Given the description of an element on the screen output the (x, y) to click on. 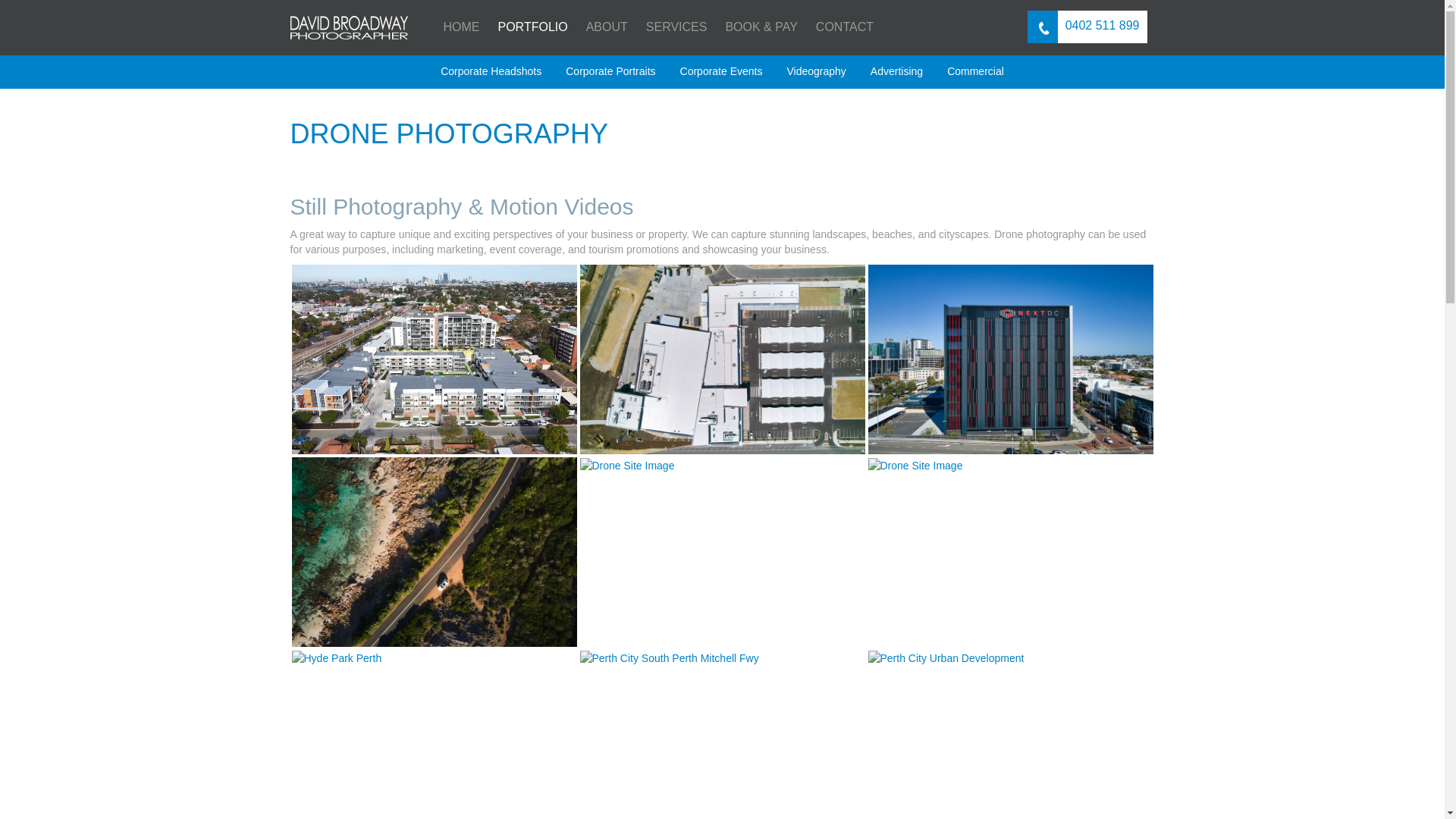
Next DC (Perth) P2 - Photo by David Broadway Element type: hover (1009, 359)
SERVICES Element type: text (676, 27)
BOOK & PAY Element type: text (760, 27)
Corporate Portraits Element type: text (610, 70)
Commercial Element type: text (975, 70)
Corporate Events Element type: text (721, 70)
CONTACT Element type: text (844, 27)
ABOUT Element type: text (607, 27)
Perth City Urban Development - Photo by David Broadway Element type: hover (945, 657)
PORTFOLIO Element type: text (532, 27)
Birdseye View - Photo by David Broadway Element type: hover (721, 359)
Corporate Headshots Element type: text (490, 70)
Drone Site Image - Photo by David Broadway Element type: hover (626, 465)
Property Drone Photography - Photo by David Broadway Element type: hover (433, 359)
Advertising Element type: text (896, 70)
Drone Site Image - Photo by David Broadway Element type: hover (914, 465)
HOME Element type: text (460, 27)
Videography Element type: text (815, 70)
0402 511 899 Element type: text (1087, 26)
Hyde Park Perth - Photo by David Broadway Element type: hover (336, 657)
Drone Photography Perth - Photo by David Broadway Element type: hover (433, 551)
